Given the description of an element on the screen output the (x, y) to click on. 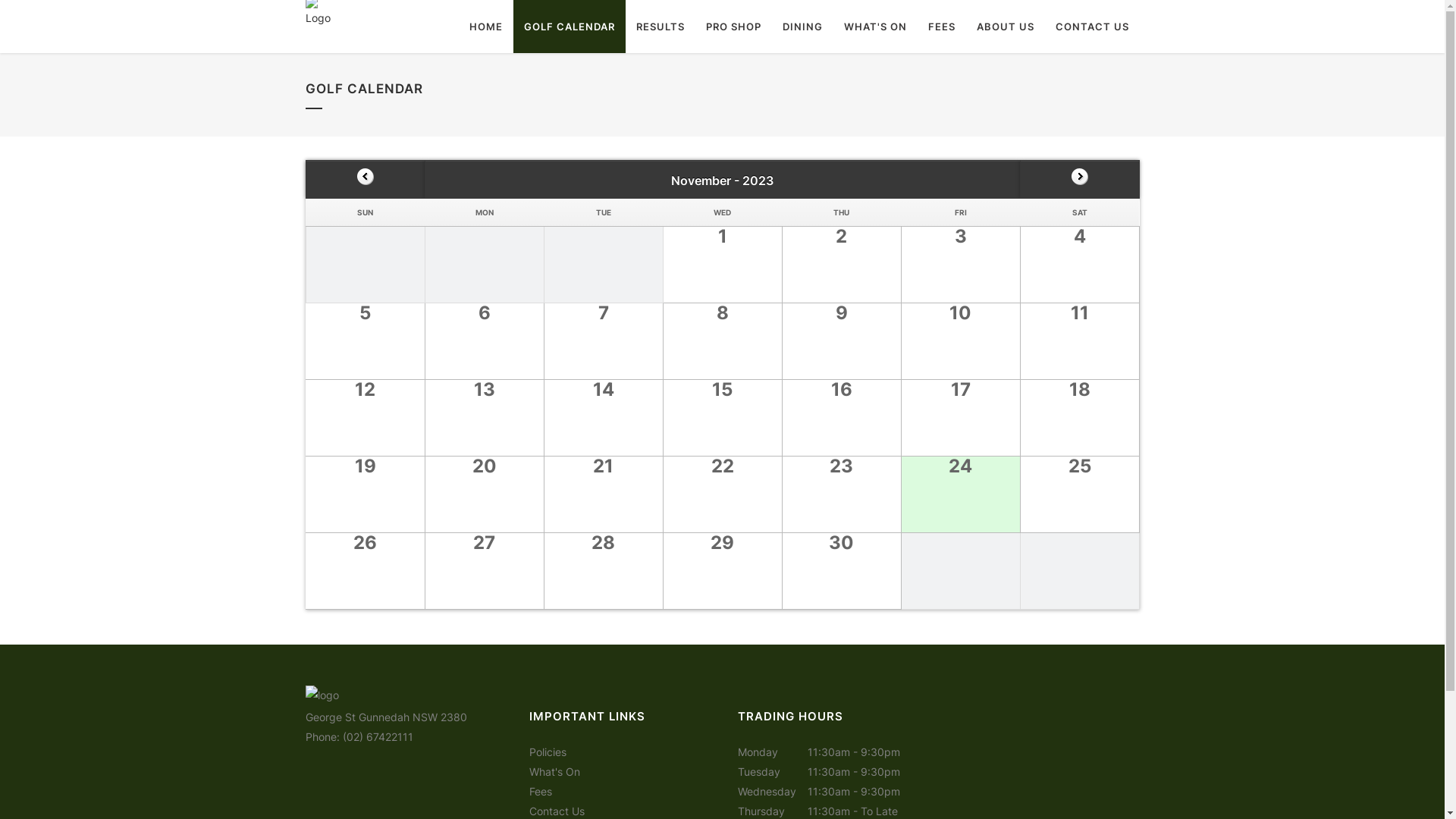
PRO SHOP Element type: text (732, 26)
CONTACT US Element type: text (1091, 26)
Contact Us Element type: text (556, 810)
ABOUT US Element type: text (1005, 26)
HOME Element type: text (485, 26)
Policies Element type: text (547, 751)
GOLF CALENDAR Element type: text (568, 26)
What's On Element type: text (554, 771)
Fees Element type: text (540, 790)
RESULTS Element type: text (659, 26)
FEES Element type: text (941, 26)
WHAT'S ON Element type: text (874, 26)
DINING Element type: text (802, 26)
